Given the description of an element on the screen output the (x, y) to click on. 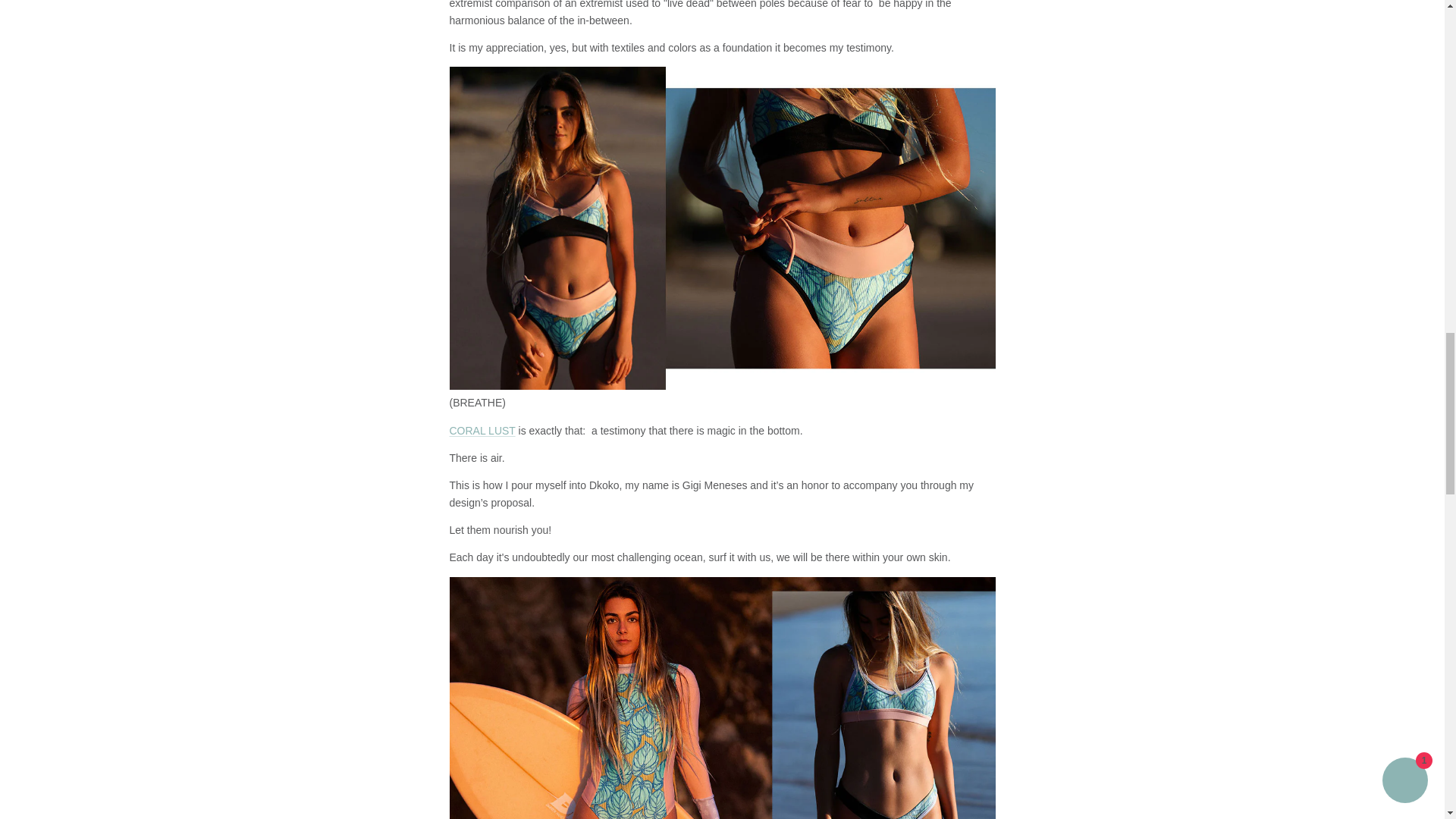
Coral Lust upcycled sustainable surf bikinis (481, 430)
